Given the description of an element on the screen output the (x, y) to click on. 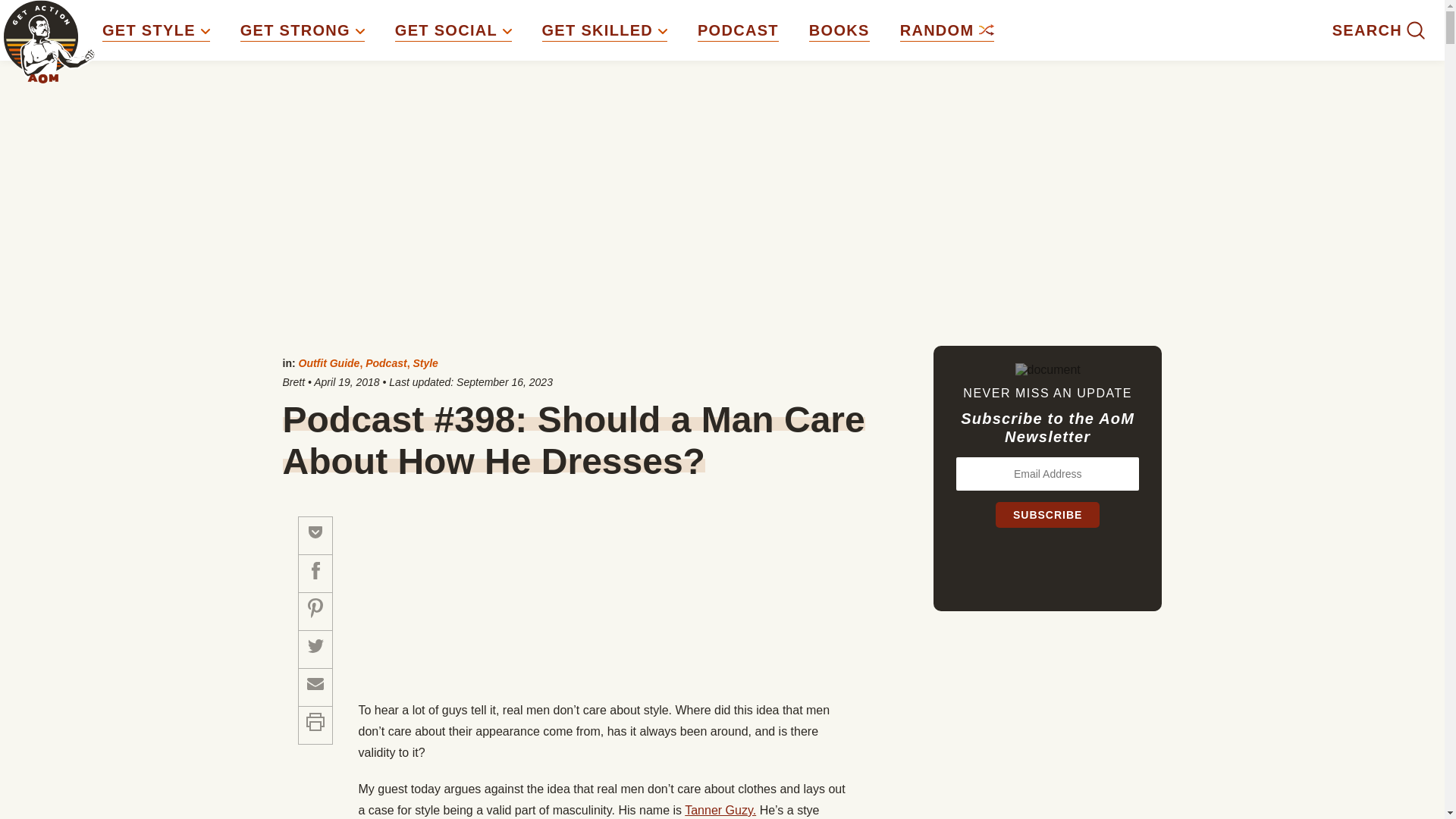
GET SOCIAL (453, 30)
RANDOM (946, 30)
GET STRONG (302, 30)
GET SKILLED (603, 30)
PODCAST (737, 30)
GET STYLE (155, 30)
BOOKS (839, 30)
Subscribe (1047, 514)
